Given the description of an element on the screen output the (x, y) to click on. 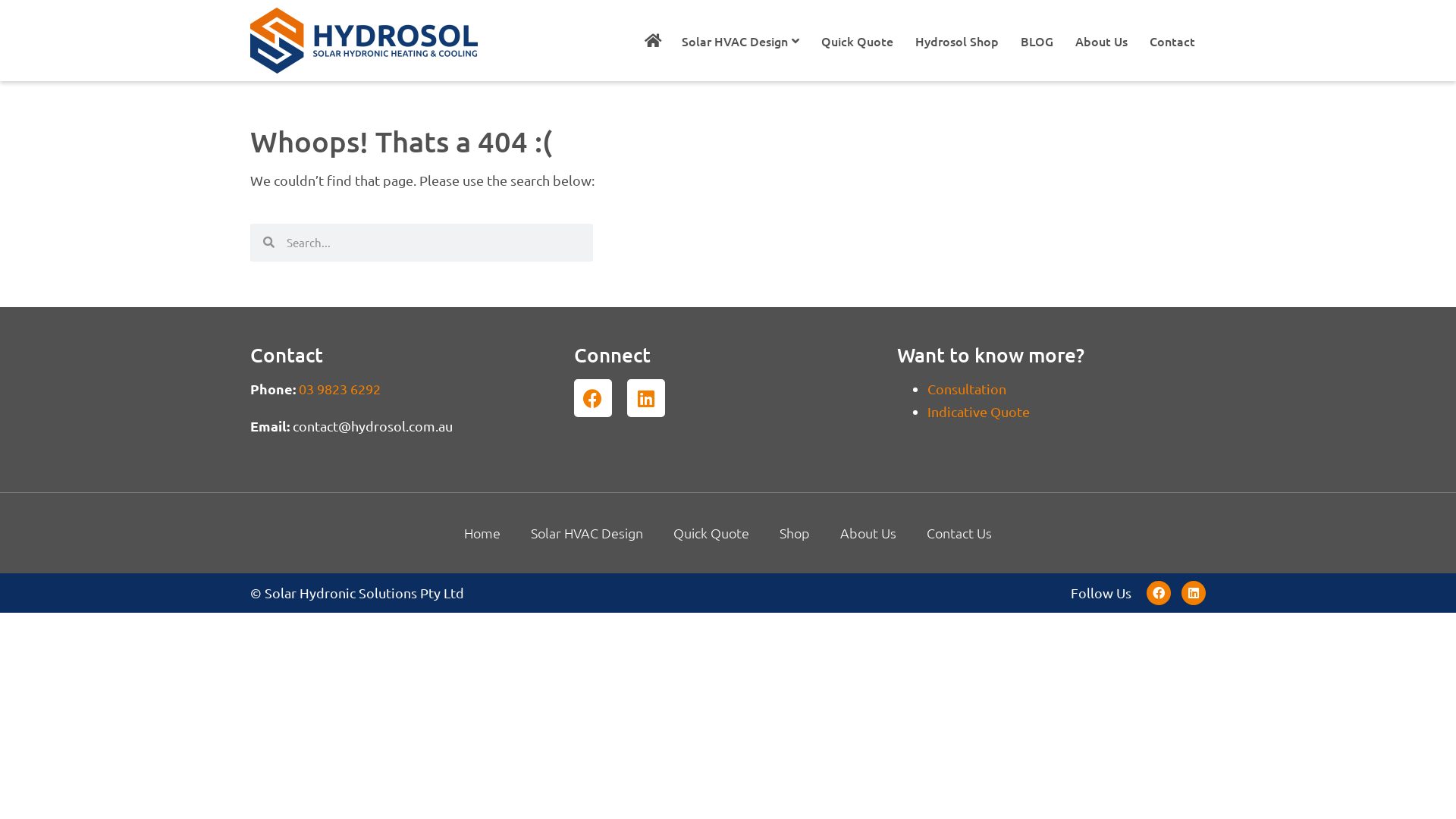
Quick Quote Element type: text (856, 39)
About Us Element type: text (868, 532)
About Us Element type: text (1101, 39)
Quick Quote Element type: text (711, 532)
BLOG Element type: text (1036, 39)
Home Element type: text (481, 532)
Solar HVAC Design Element type: text (740, 39)
Contact Us Element type: text (959, 532)
Indicative Quote Element type: text (978, 411)
Hydrosol Shop Element type: text (956, 39)
03 9823 6292 Element type: text (339, 388)
Consultation Element type: text (966, 388)
Contact Element type: text (1172, 39)
Solar HVAC Design Element type: text (586, 532)
Shop Element type: text (794, 532)
